Given the description of an element on the screen output the (x, y) to click on. 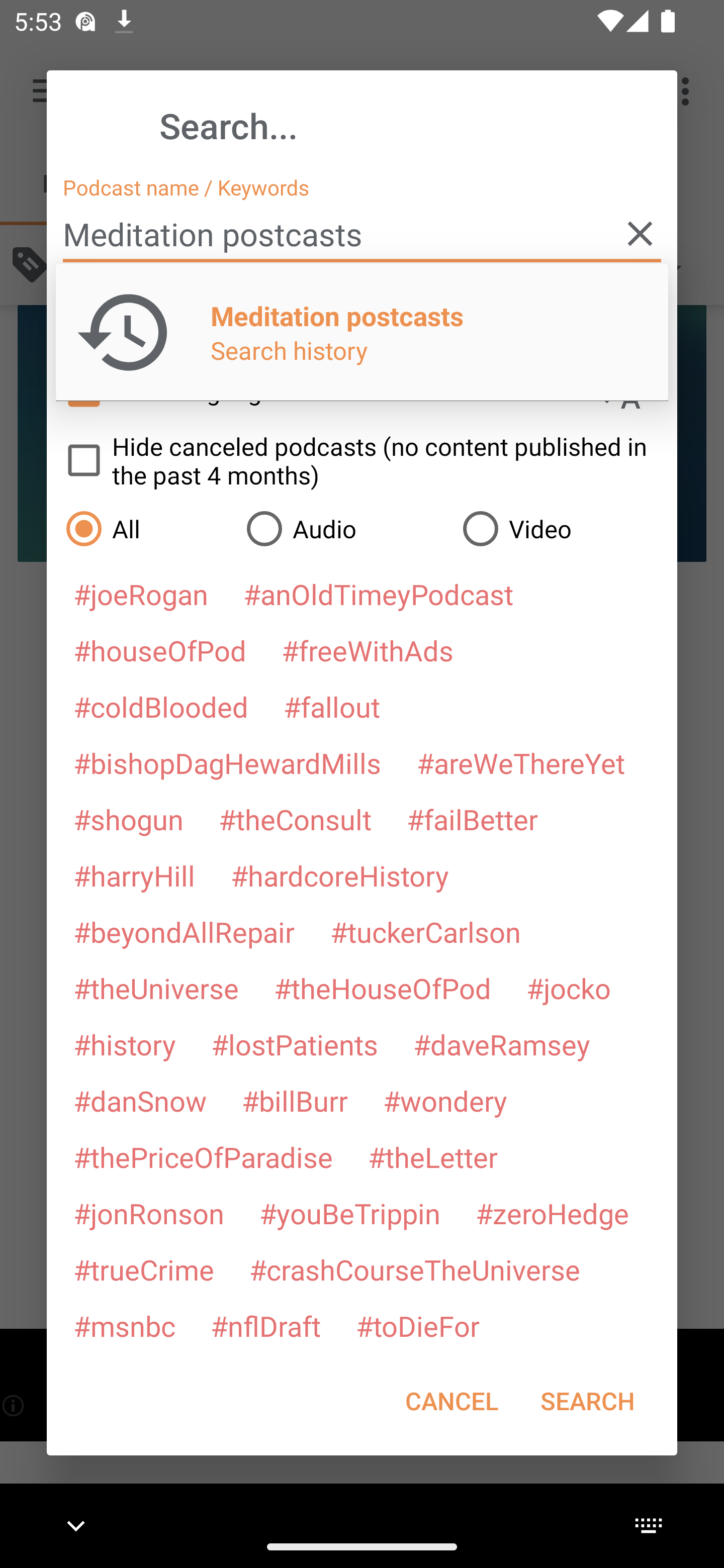
Meditation postcasts (361, 234)
All (145, 528)
Audio (344, 528)
Video (560, 528)
#joeRogan (140, 594)
#anOldTimeyPodcast (378, 594)
#houseOfPod (159, 650)
#freeWithAds (367, 650)
#coldBlooded (160, 705)
#fallout (331, 705)
#bishopDagHewardMills (227, 762)
#areWeThereYet (521, 762)
#shogun (128, 818)
#theConsult (294, 818)
#failBetter (471, 818)
#harryHill (134, 875)
#hardcoreHistory (339, 875)
#beyondAllRepair (184, 931)
#tuckerCarlson (425, 931)
#theUniverse (155, 987)
#theHouseOfPod (381, 987)
#jocko (568, 987)
#history (124, 1044)
#lostPatients (294, 1044)
#daveRamsey (501, 1044)
#danSnow (139, 1100)
#billBurr (294, 1100)
#wondery (444, 1100)
#thePriceOfParadise (203, 1157)
#theLetter (432, 1157)
#jonRonson (148, 1213)
#youBeTrippin (349, 1213)
#zeroHedge (552, 1213)
#trueCrime (143, 1268)
#crashCourseTheUniverse (414, 1268)
#msnbc (124, 1325)
#nflDraft (265, 1325)
#toDieFor (417, 1325)
CANCEL (451, 1400)
SEARCH (587, 1400)
